Given the description of an element on the screen output the (x, y) to click on. 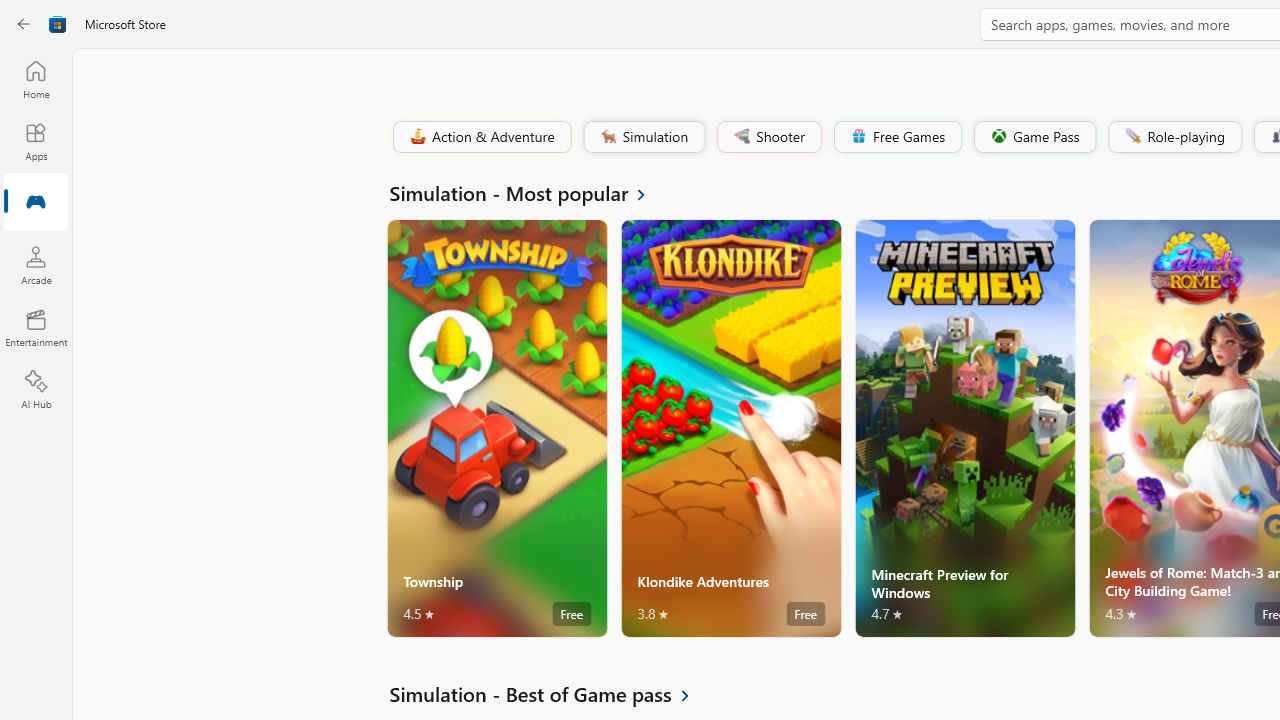
Class: Image (1132, 136)
See all  Simulation - Most popular (528, 192)
Game Pass (1033, 136)
Home (35, 79)
Township. Average rating of 4.5 out of five stars. Free   (497, 427)
Simulation (643, 136)
Gaming (35, 203)
Shooter (767, 136)
Apps (35, 141)
See all  Simulation - Best of Game pass (551, 693)
AI Hub (35, 390)
Back (24, 24)
Entertainment (35, 327)
